Given the description of an element on the screen output the (x, y) to click on. 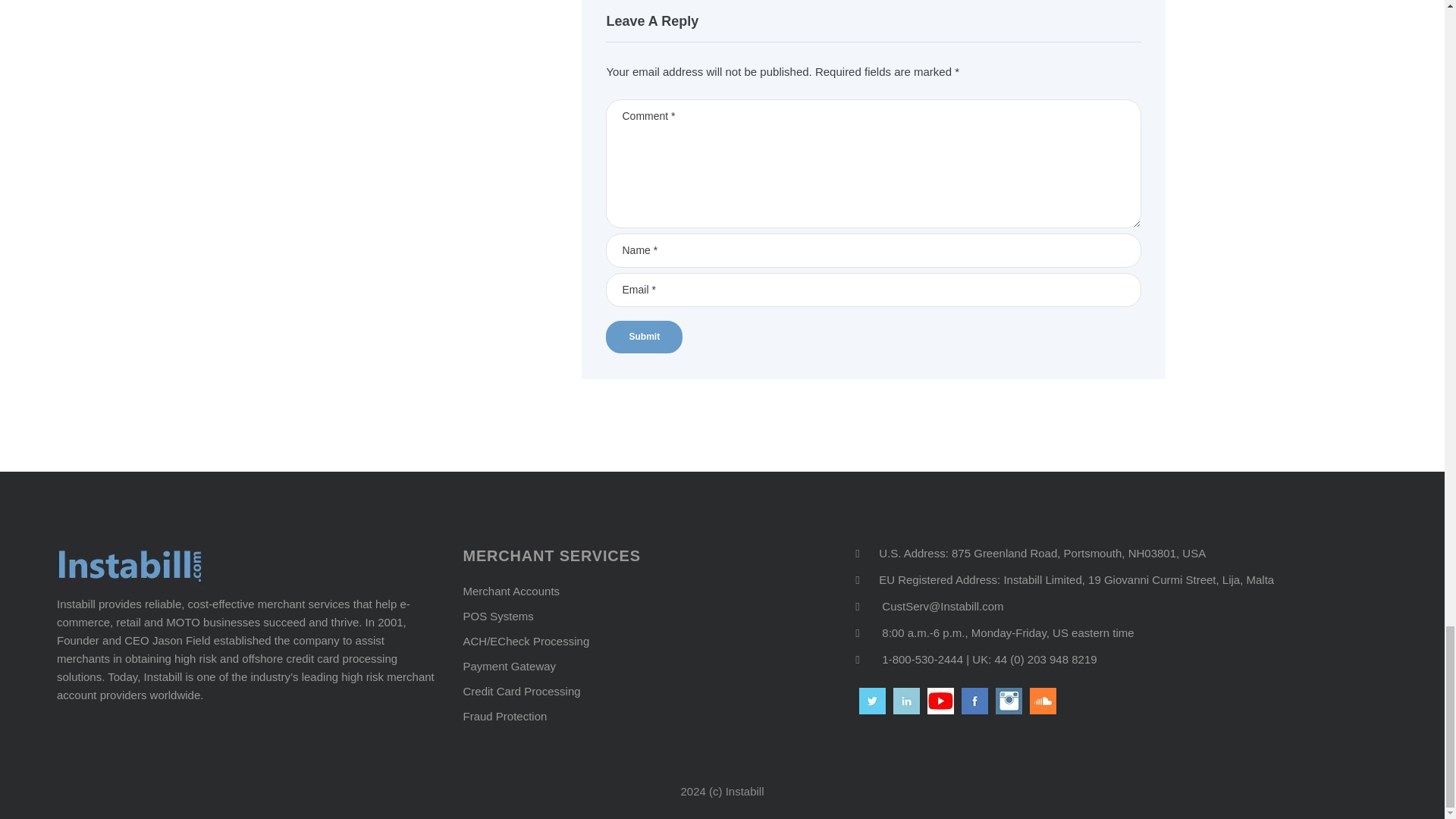
Submit (643, 336)
